Given the description of an element on the screen output the (x, y) to click on. 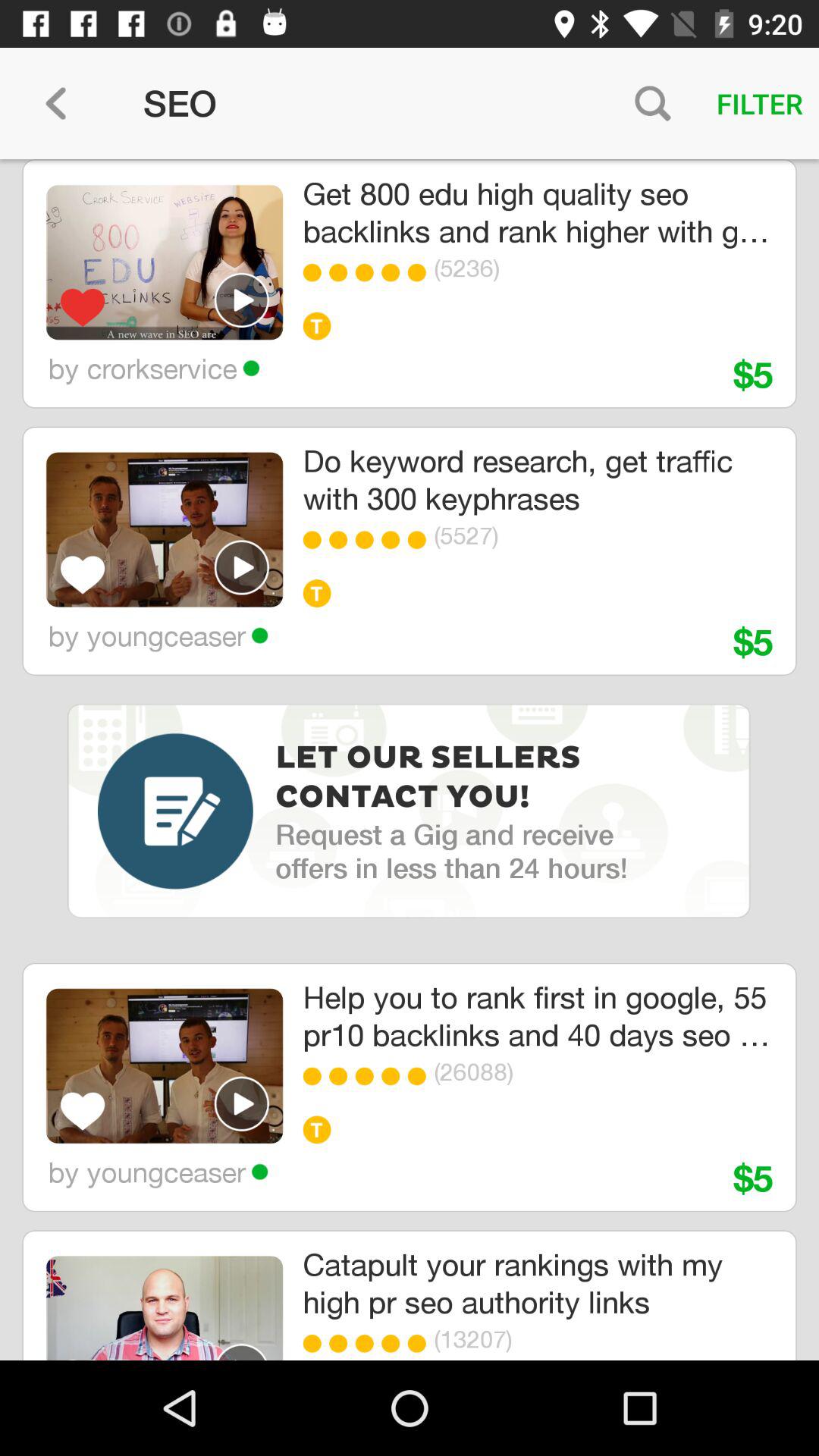
launch icon above the get 800 edu item (652, 103)
